Given the description of an element on the screen output the (x, y) to click on. 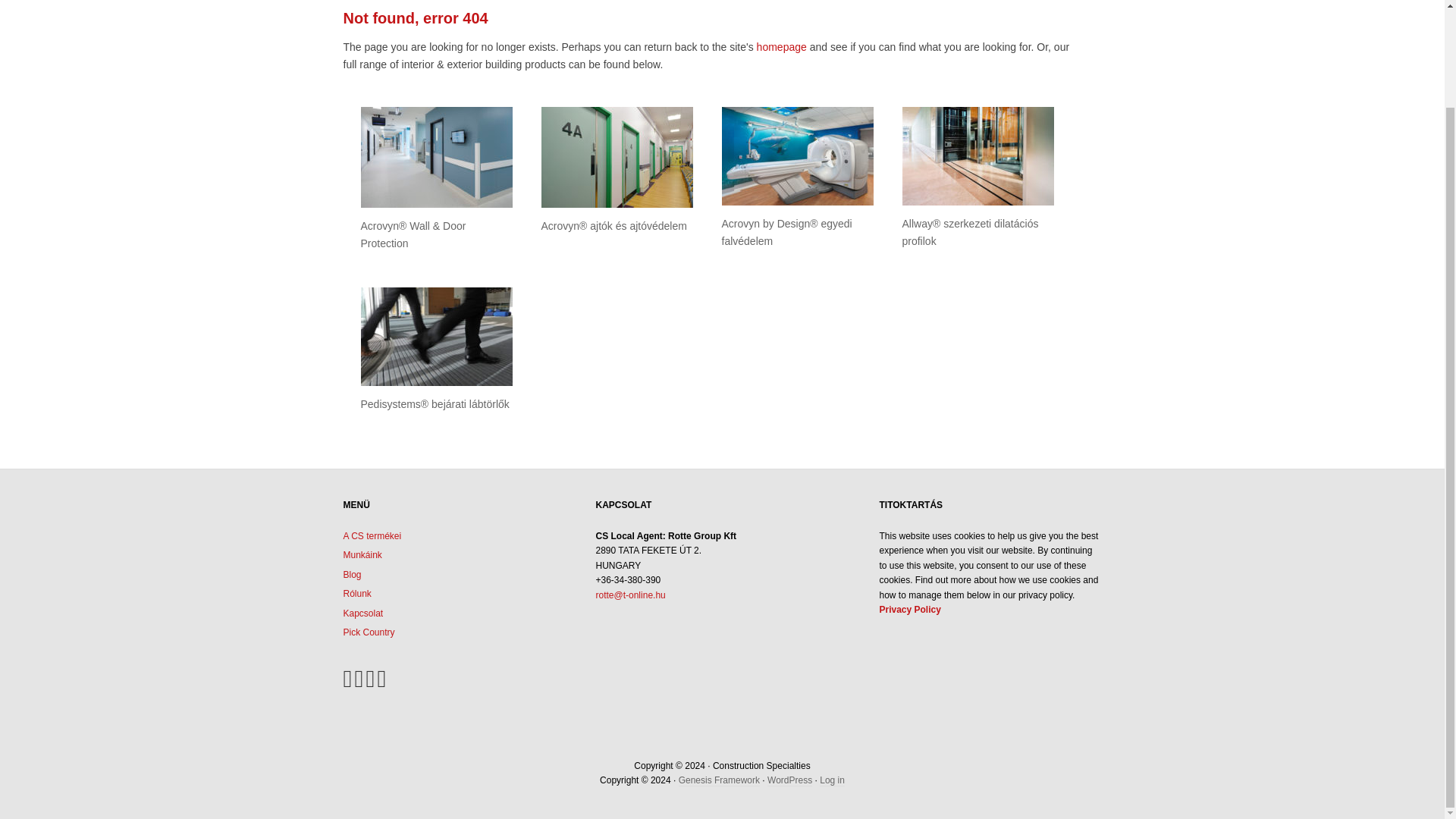
homepage (781, 46)
Blog (351, 574)
